Given the description of an element on the screen output the (x, y) to click on. 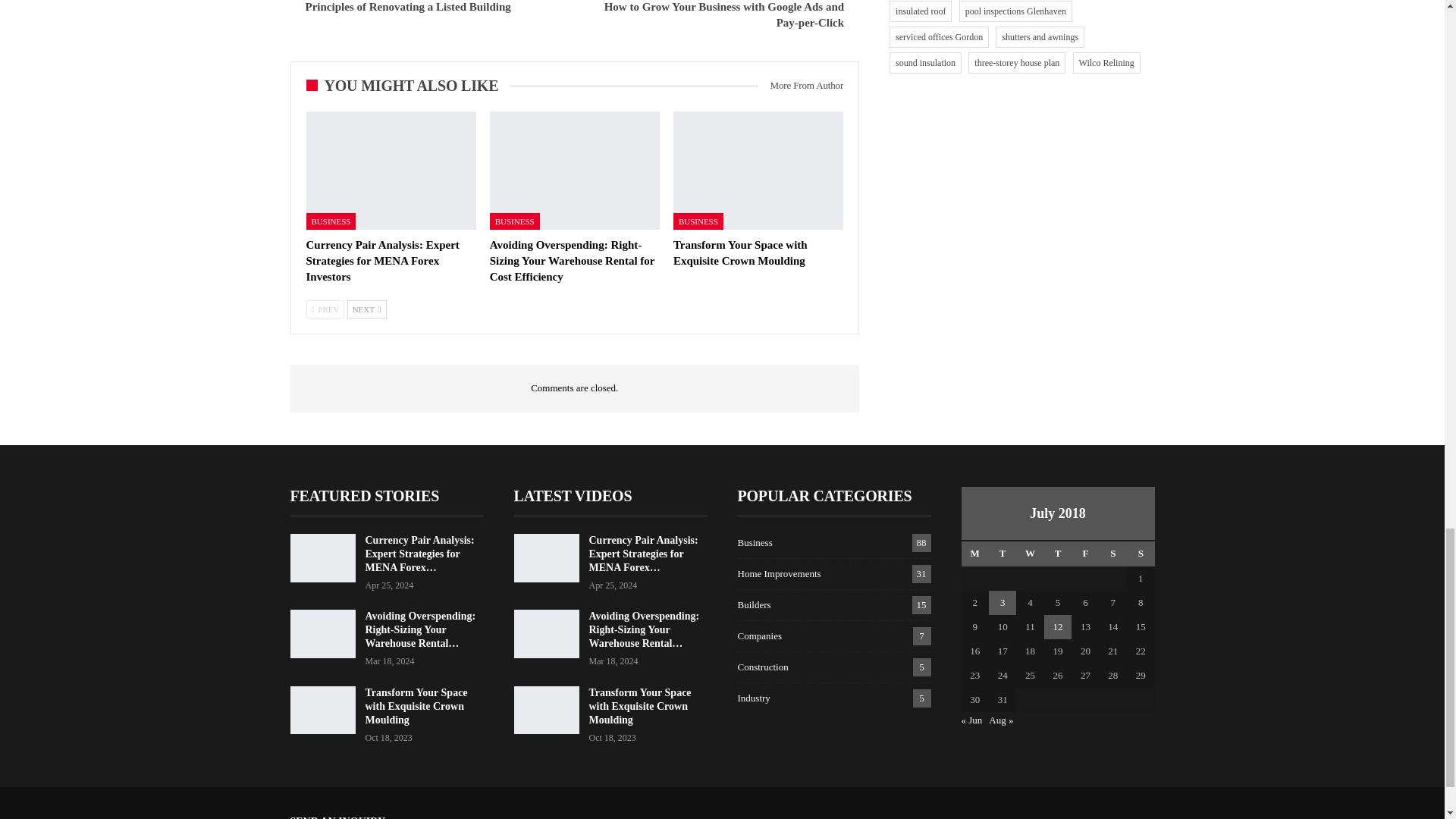
Previous (325, 309)
Transform Your Space with Exquisite Crown Moulding (757, 170)
Transform Your Space with Exquisite Crown Moulding (740, 252)
Next (367, 309)
